Given the description of an element on the screen output the (x, y) to click on. 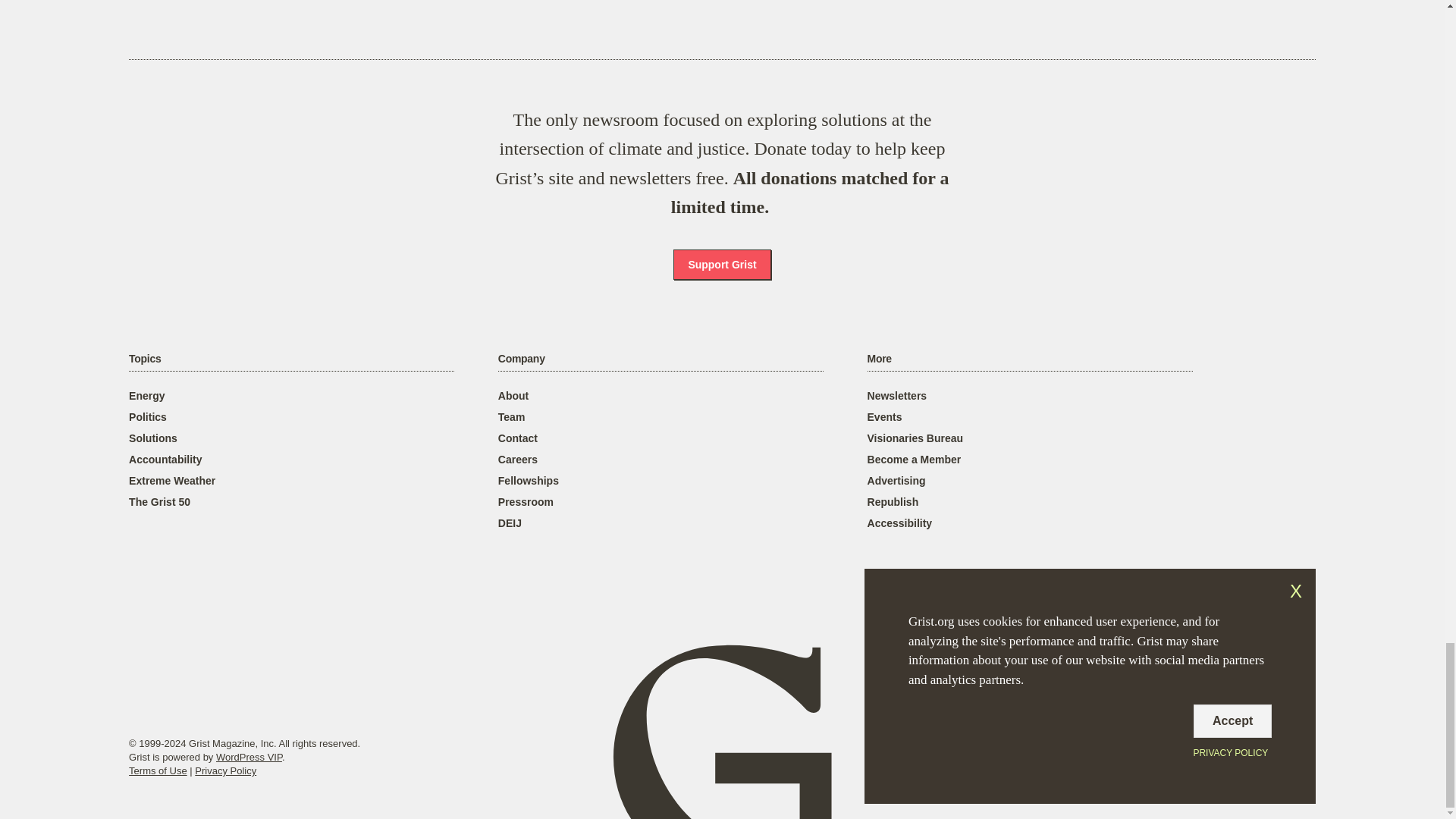
More (879, 358)
Topics (144, 358)
Company (520, 358)
